Given the description of an element on the screen output the (x, y) to click on. 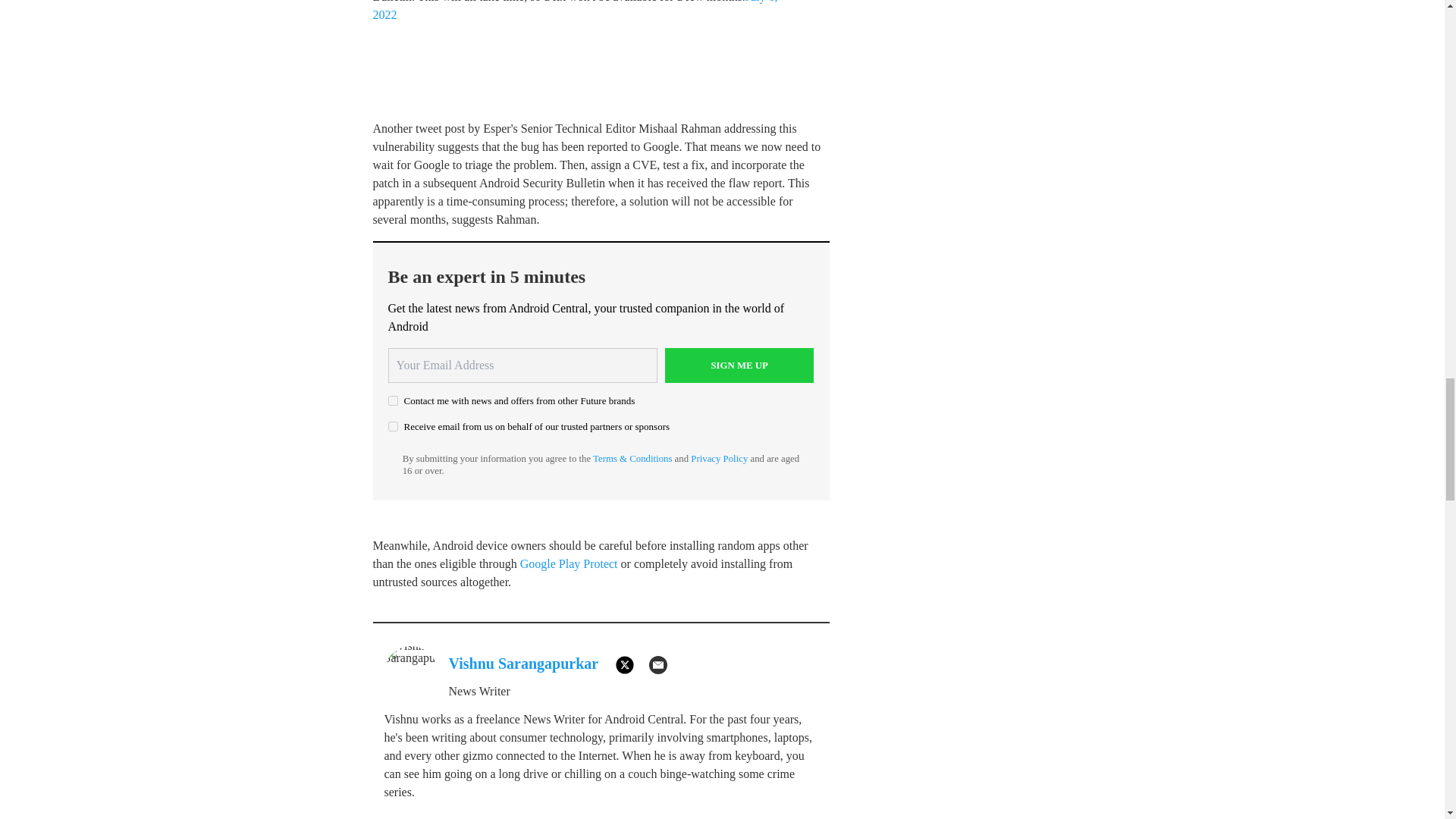
on (392, 400)
Sign me up (739, 365)
on (392, 426)
